Given the description of an element on the screen output the (x, y) to click on. 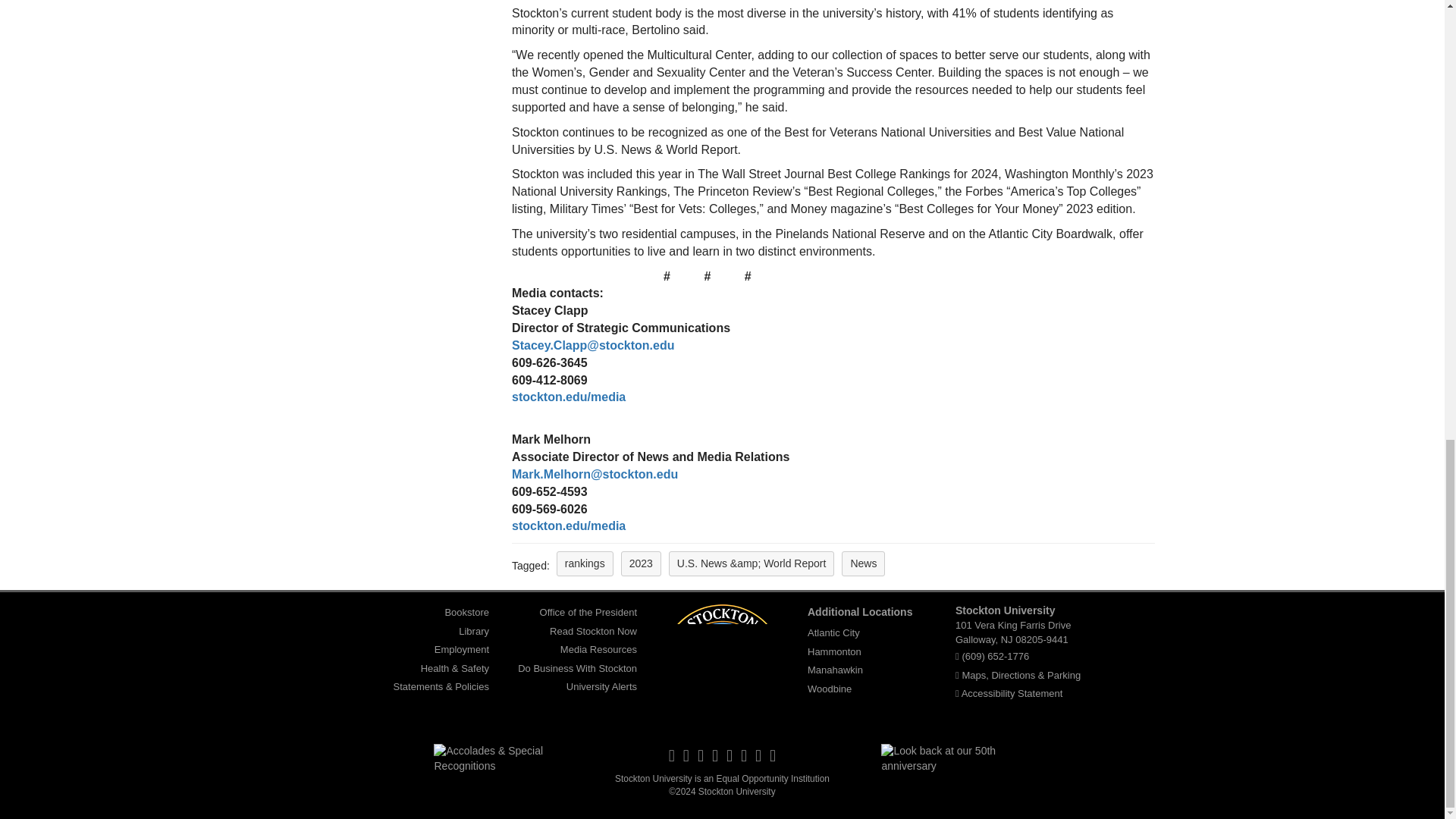
News (863, 563)
2023 (641, 563)
rankings (584, 563)
Office of the President (588, 611)
Call with Google Voice (994, 655)
